Given the description of an element on the screen output the (x, y) to click on. 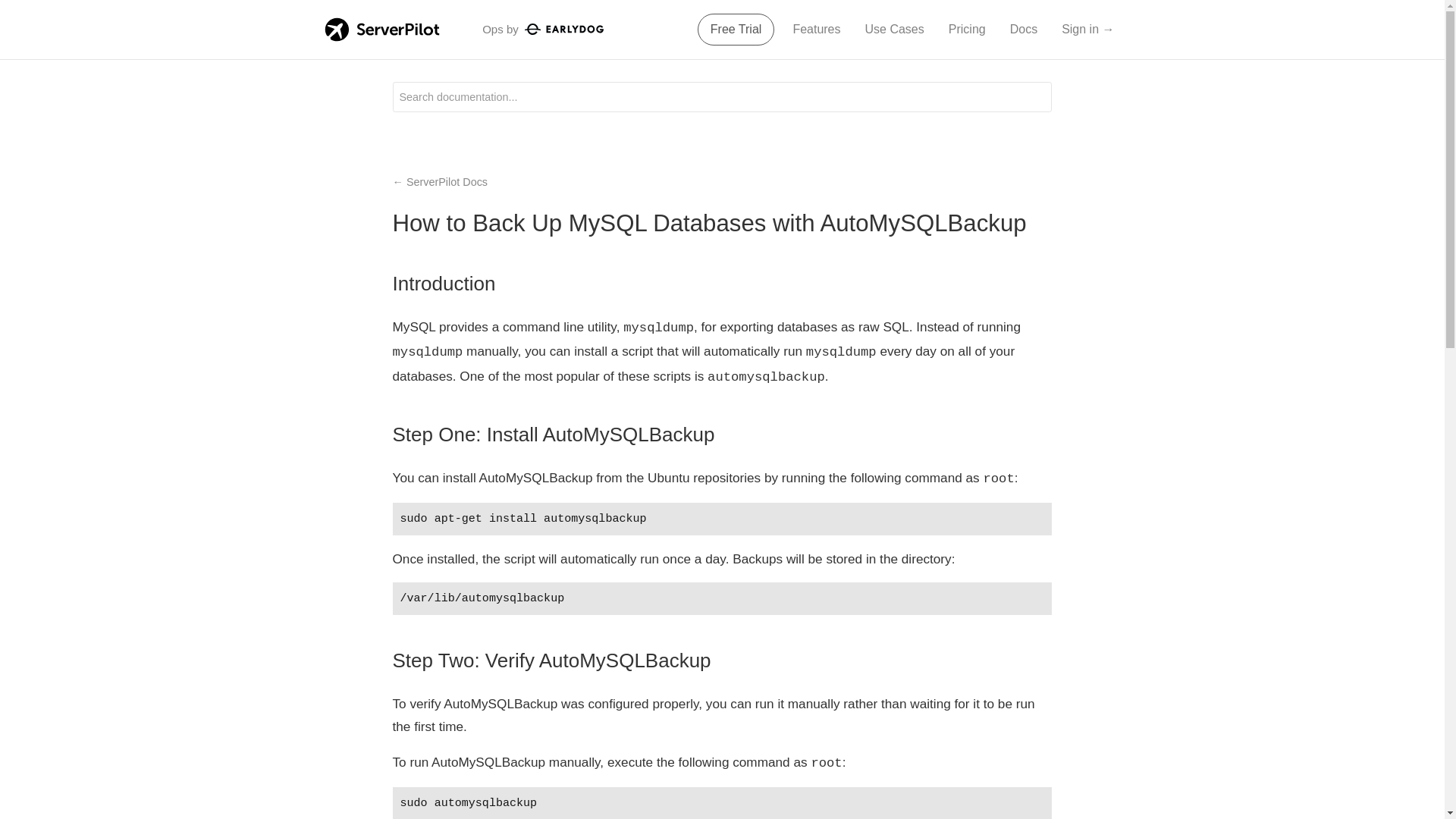
Features (815, 29)
Free Trial (735, 29)
Pricing (966, 29)
Ops by (543, 28)
Use Cases (894, 29)
Docs (1023, 29)
